Given the description of an element on the screen output the (x, y) to click on. 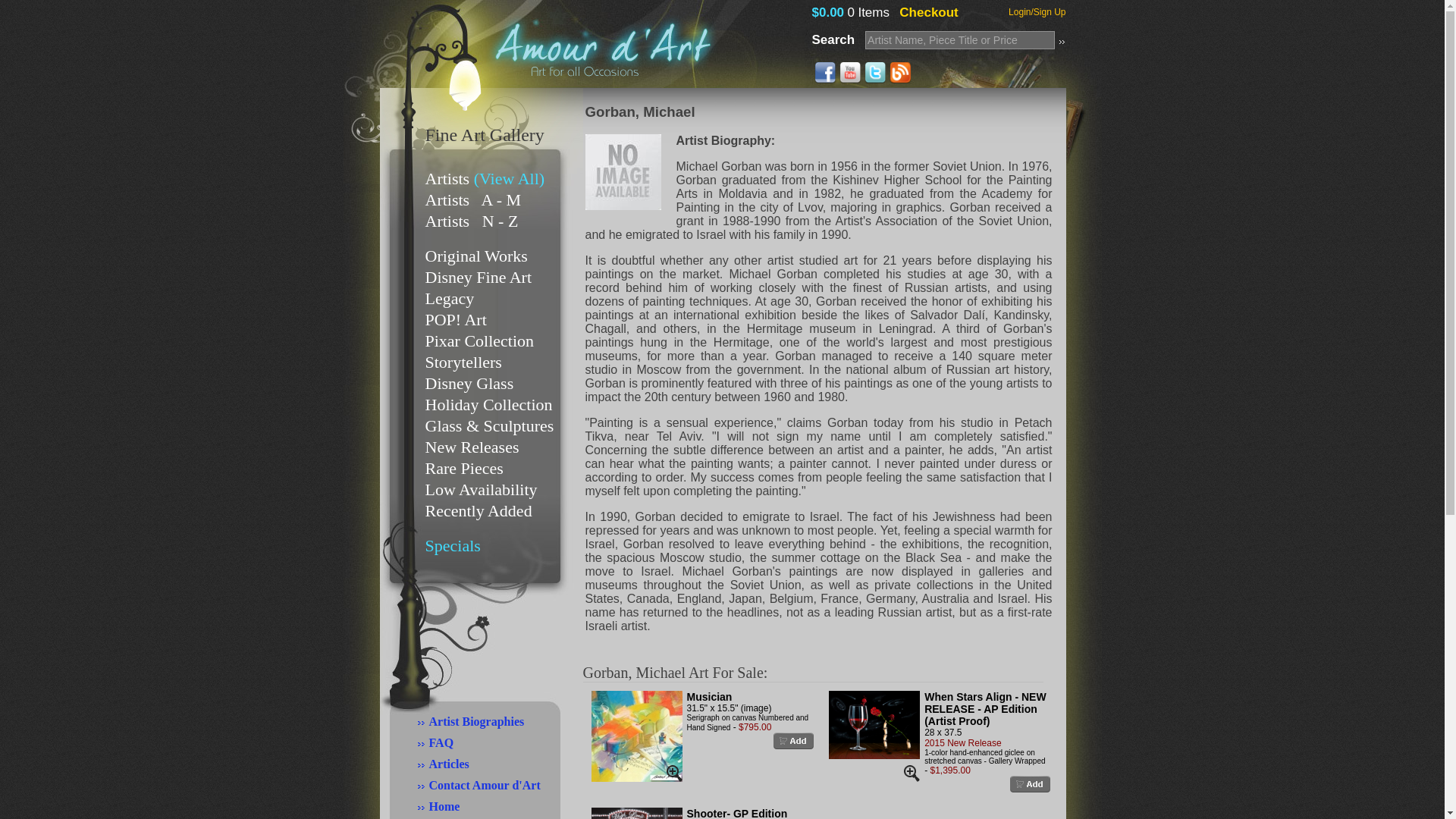
Contact Amour d'Art (484, 784)
POP! Art (455, 319)
Artists   A - M (473, 199)
New Releases (471, 446)
Home (444, 806)
Amout d'Art (600, 74)
Low Availability (481, 488)
Holiday Collection (488, 404)
Rare Pieces (463, 467)
Articles (448, 763)
Specials (452, 545)
Legacy (449, 298)
Pixar Collection (479, 340)
Artist Name, Piece Title or Price (959, 40)
Recently Added (478, 510)
